Given the description of an element on the screen output the (x, y) to click on. 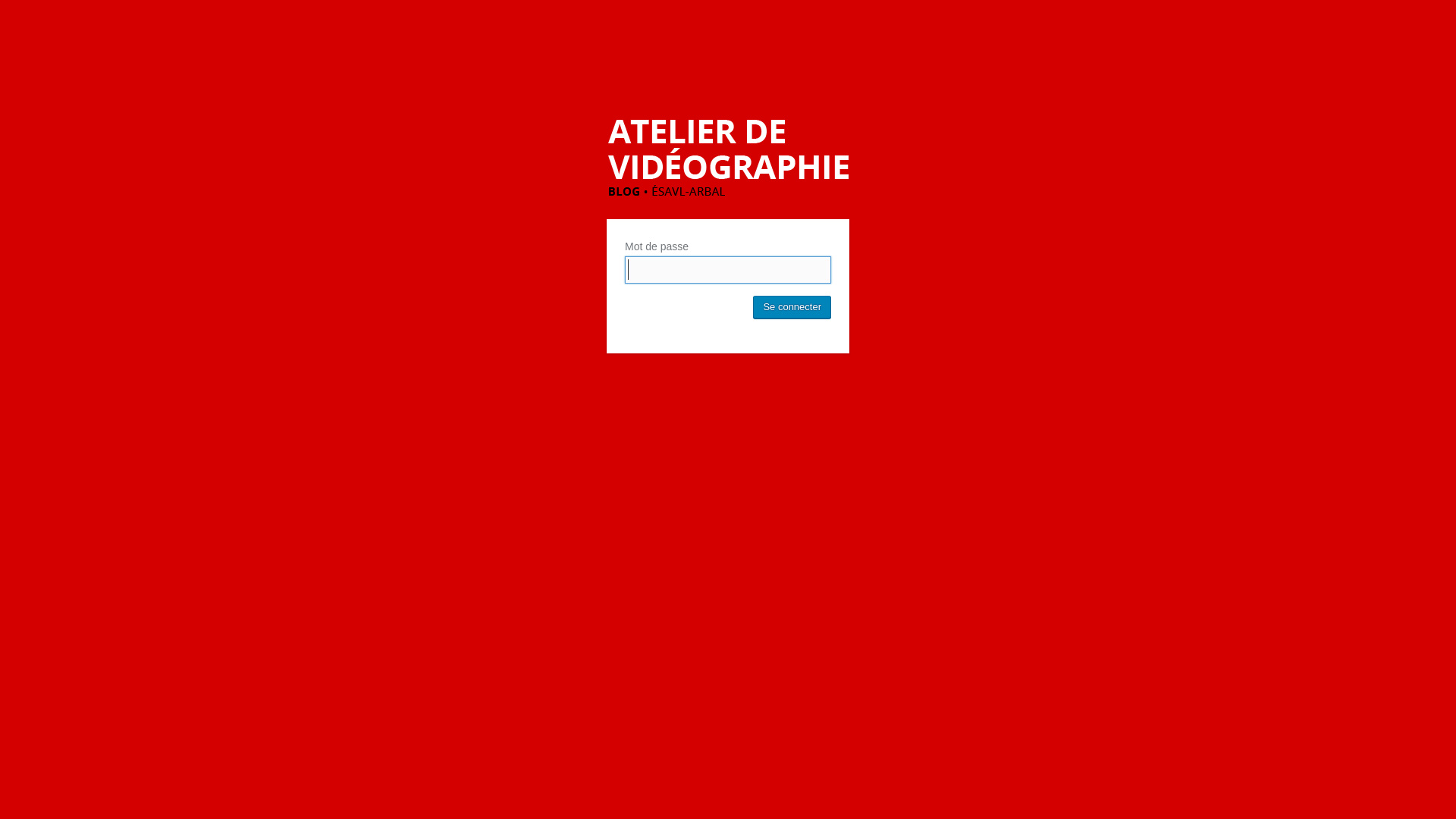
Se connecter Element type: text (792, 306)
